Given the description of an element on the screen output the (x, y) to click on. 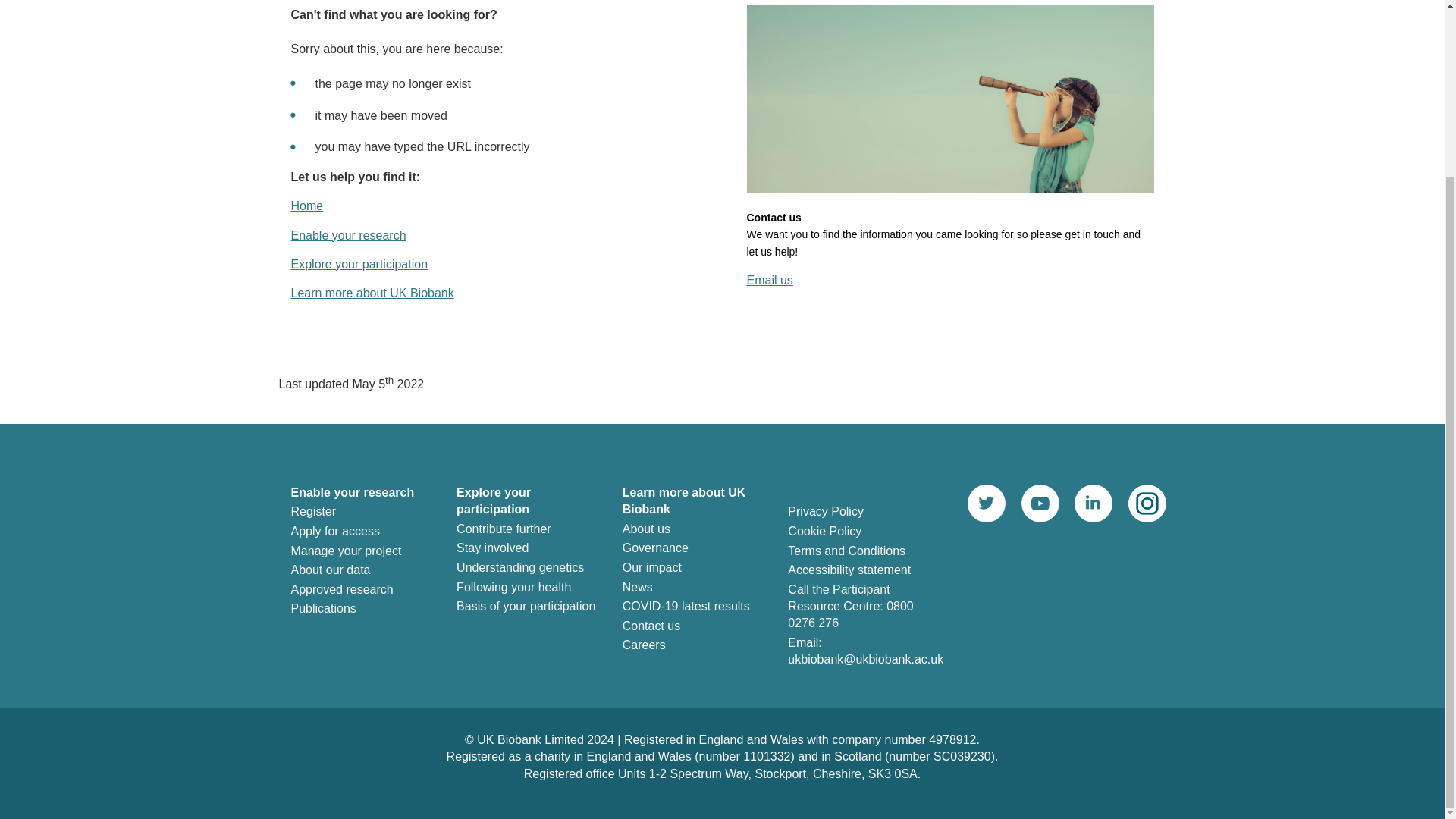
Learn more about UK Biobank (372, 292)
UK Biobank (307, 205)
Explore your participation (359, 264)
Enable your research (348, 235)
Home (307, 205)
